Given the description of an element on the screen output the (x, y) to click on. 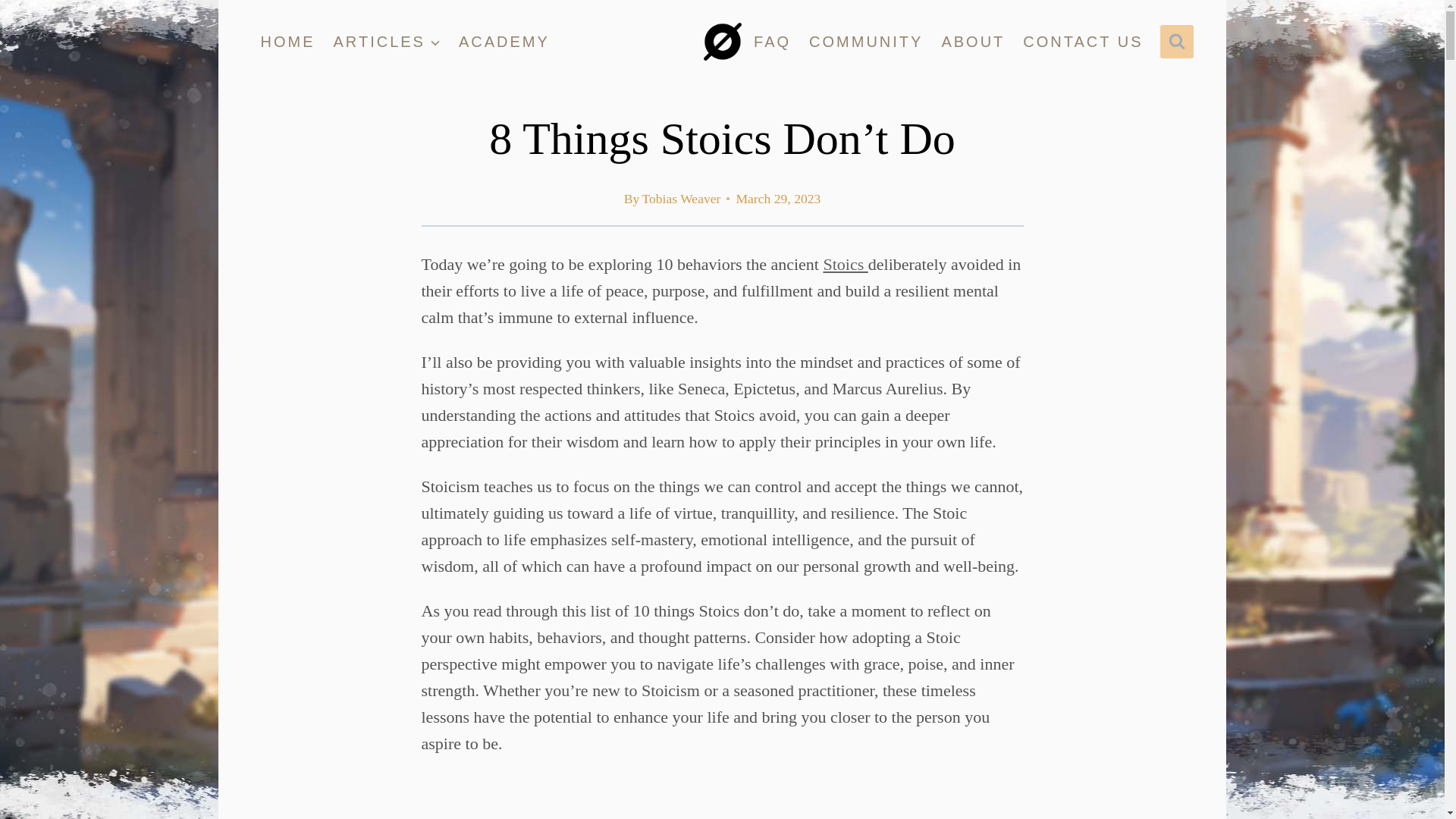
COMMUNITY (865, 41)
ACADEMY (504, 41)
CONTACT US (1082, 41)
Stoics  (844, 263)
HOME (287, 41)
ARTICLES (386, 41)
FAQ (771, 41)
Tobias Weaver (681, 198)
ABOUT (972, 41)
